Given the description of an element on the screen output the (x, y) to click on. 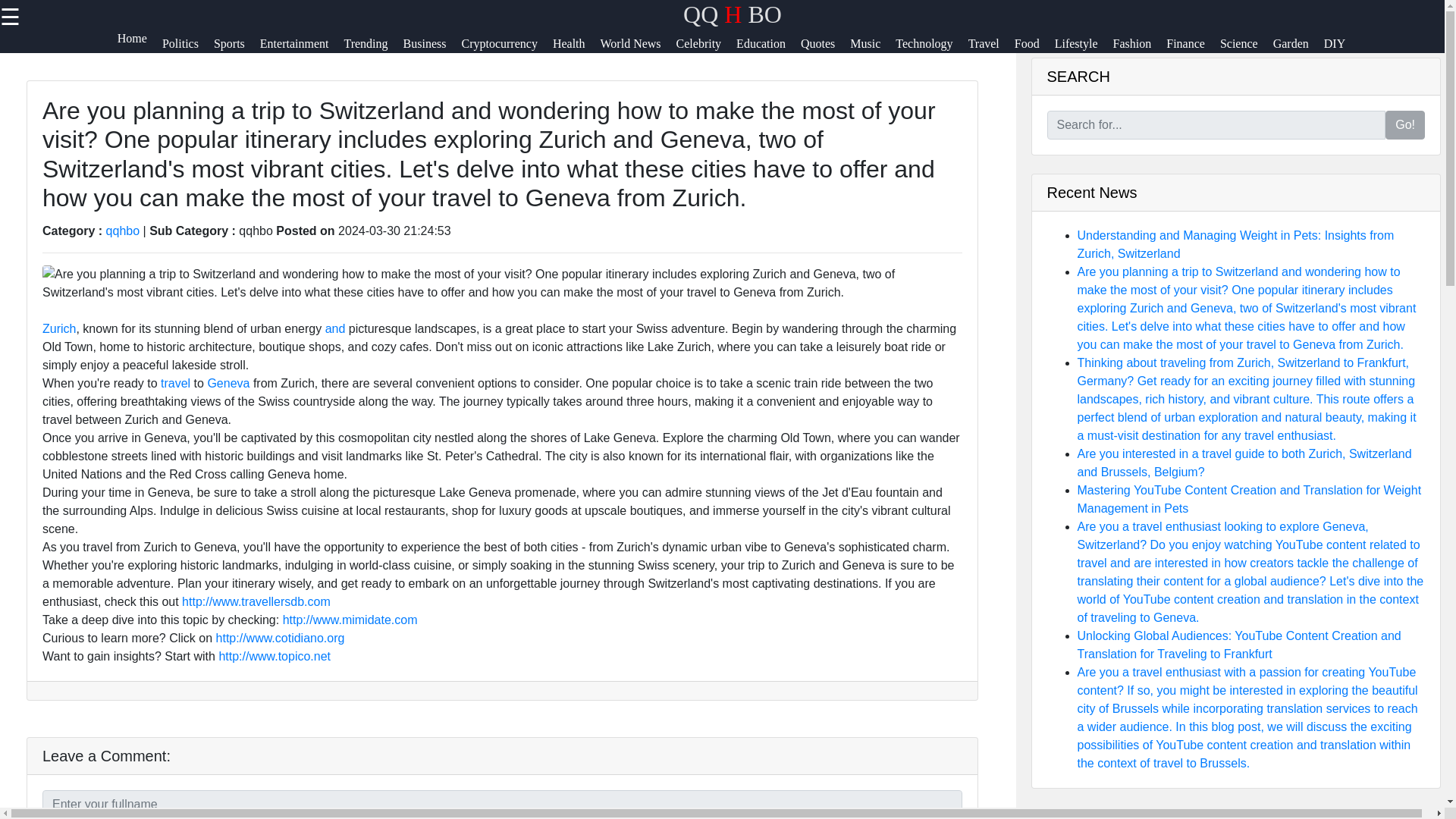
Finance (1193, 50)
Garden (1297, 50)
Lifestyle (1083, 50)
Music (872, 50)
Food (1034, 50)
Health (576, 50)
Cryptocurrency (506, 50)
Technology (931, 50)
Home (139, 50)
QQ H BO (731, 13)
Trending (373, 50)
DIY (1341, 50)
World News (638, 50)
Quotes (825, 50)
Fashion (1140, 50)
